Given the description of an element on the screen output the (x, y) to click on. 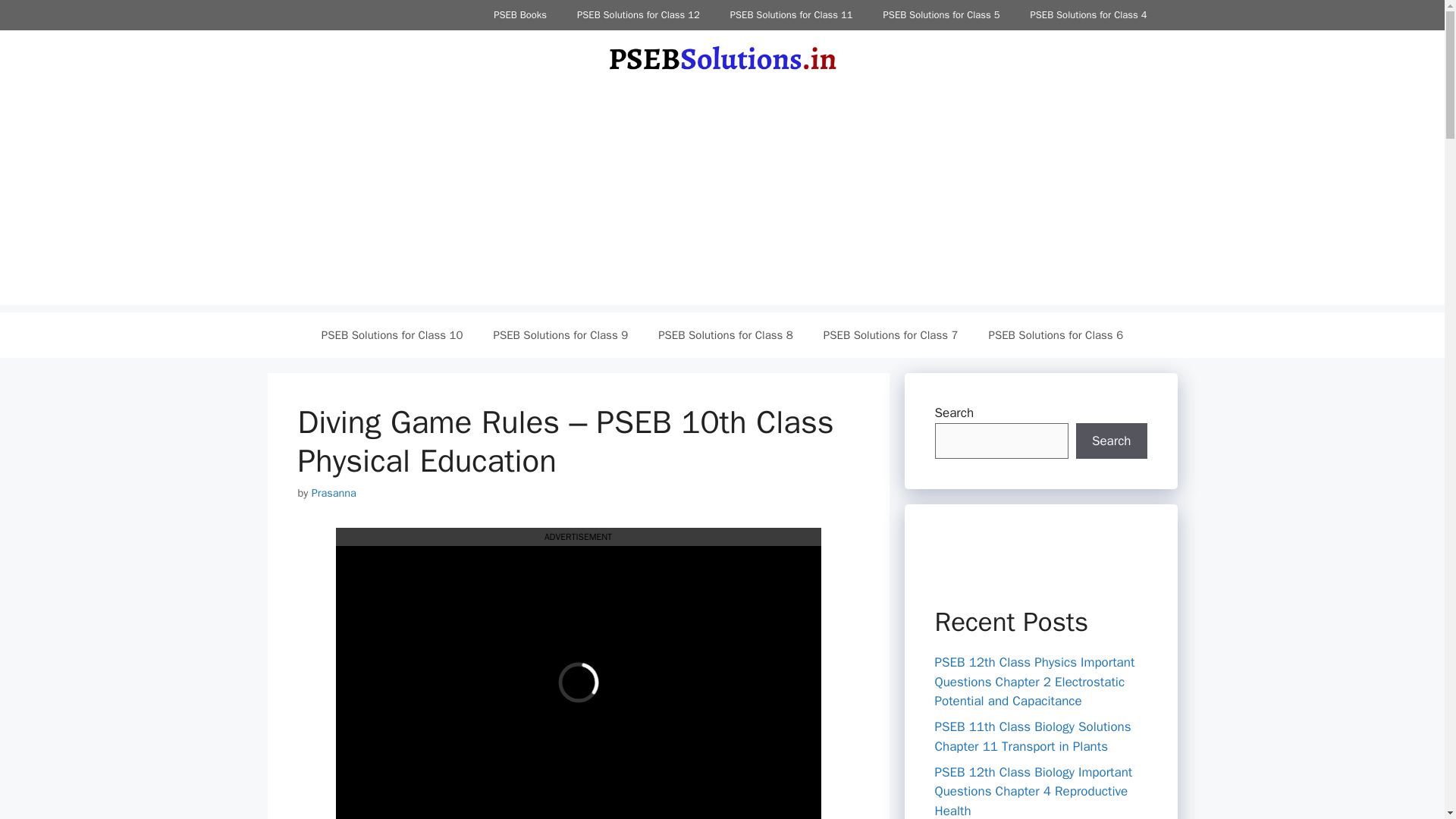
PSEB Solutions (721, 56)
PSEB Solutions for Class 8 (725, 334)
PSEB Solutions for Class 6 (1055, 334)
PSEB Books (520, 15)
PSEB Solutions for Class 7 (891, 334)
PSEB Solutions for Class 5 (940, 15)
PSEB Solutions for Class 11 (790, 15)
Search (1111, 441)
PSEB Solutions (721, 57)
PSEB Solutions for Class 12 (638, 15)
Prasanna (333, 492)
